Given the description of an element on the screen output the (x, y) to click on. 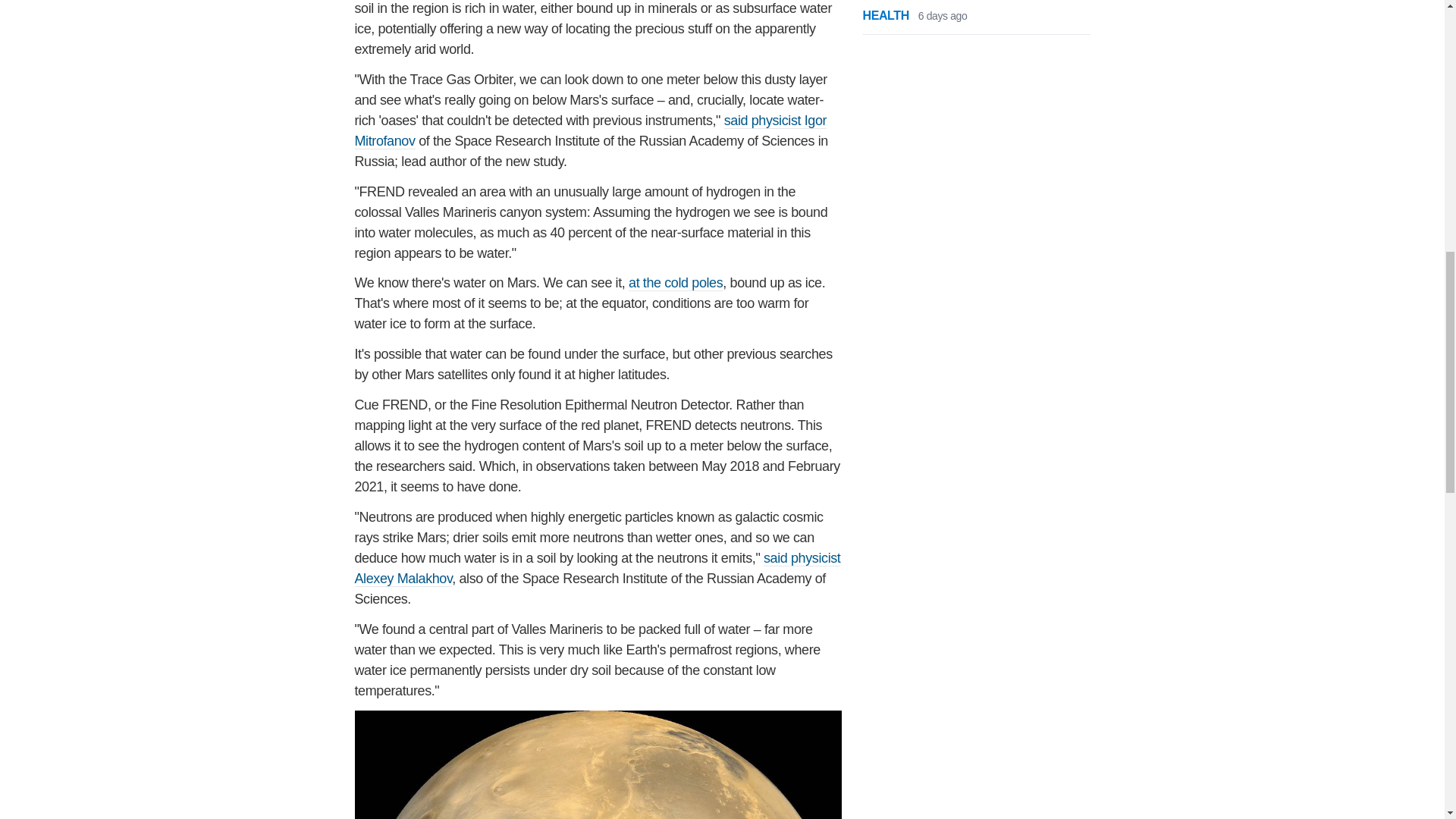
at the cold poles (675, 283)
said physicist Alexey Malakhov (598, 568)
said physicist Igor Mitrofanov (591, 131)
